Given the description of an element on the screen output the (x, y) to click on. 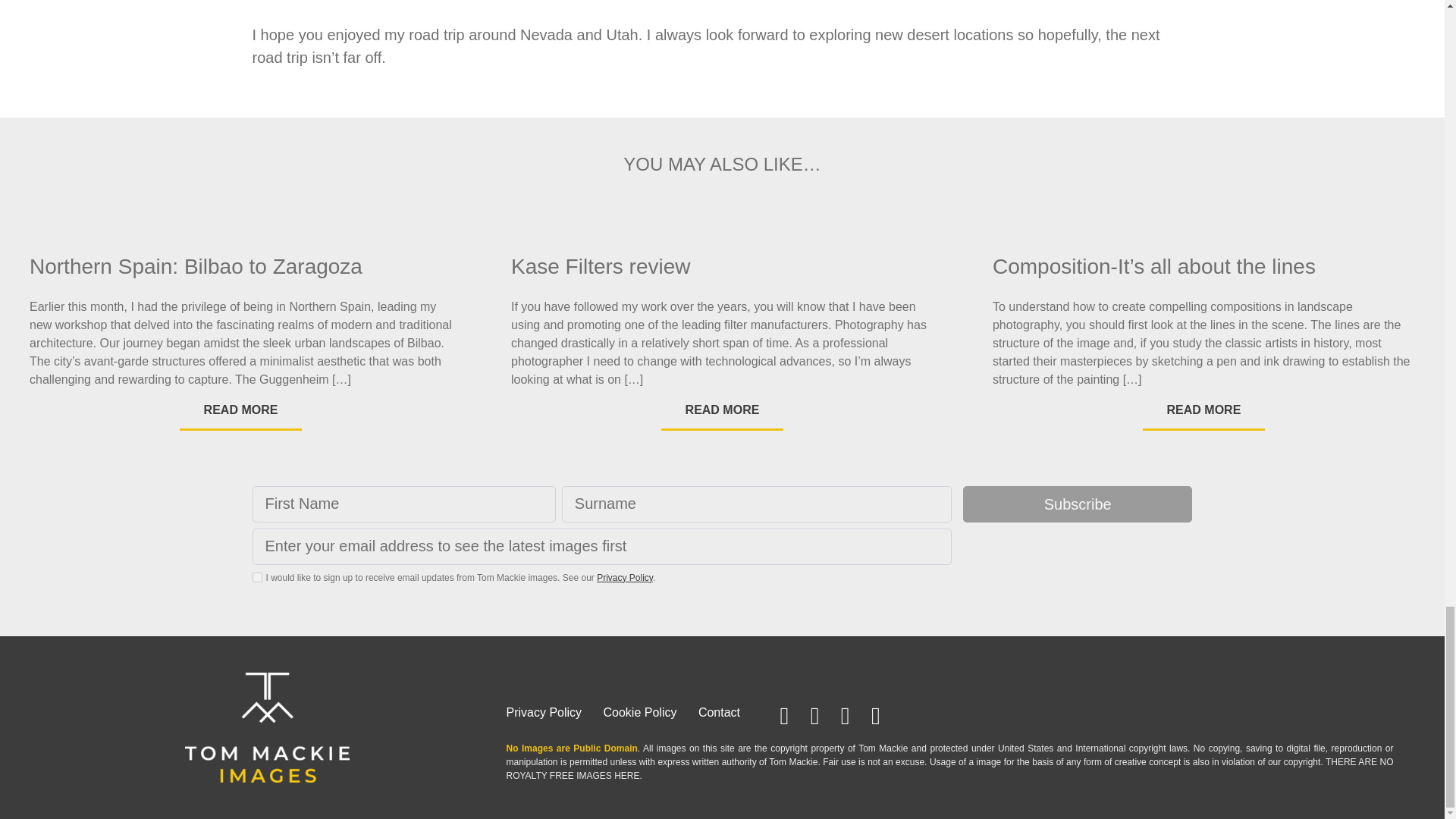
READ MORE (240, 410)
1 (256, 577)
Northern Spain: Bilbao to Zaragoza (240, 266)
